Given the description of an element on the screen output the (x, y) to click on. 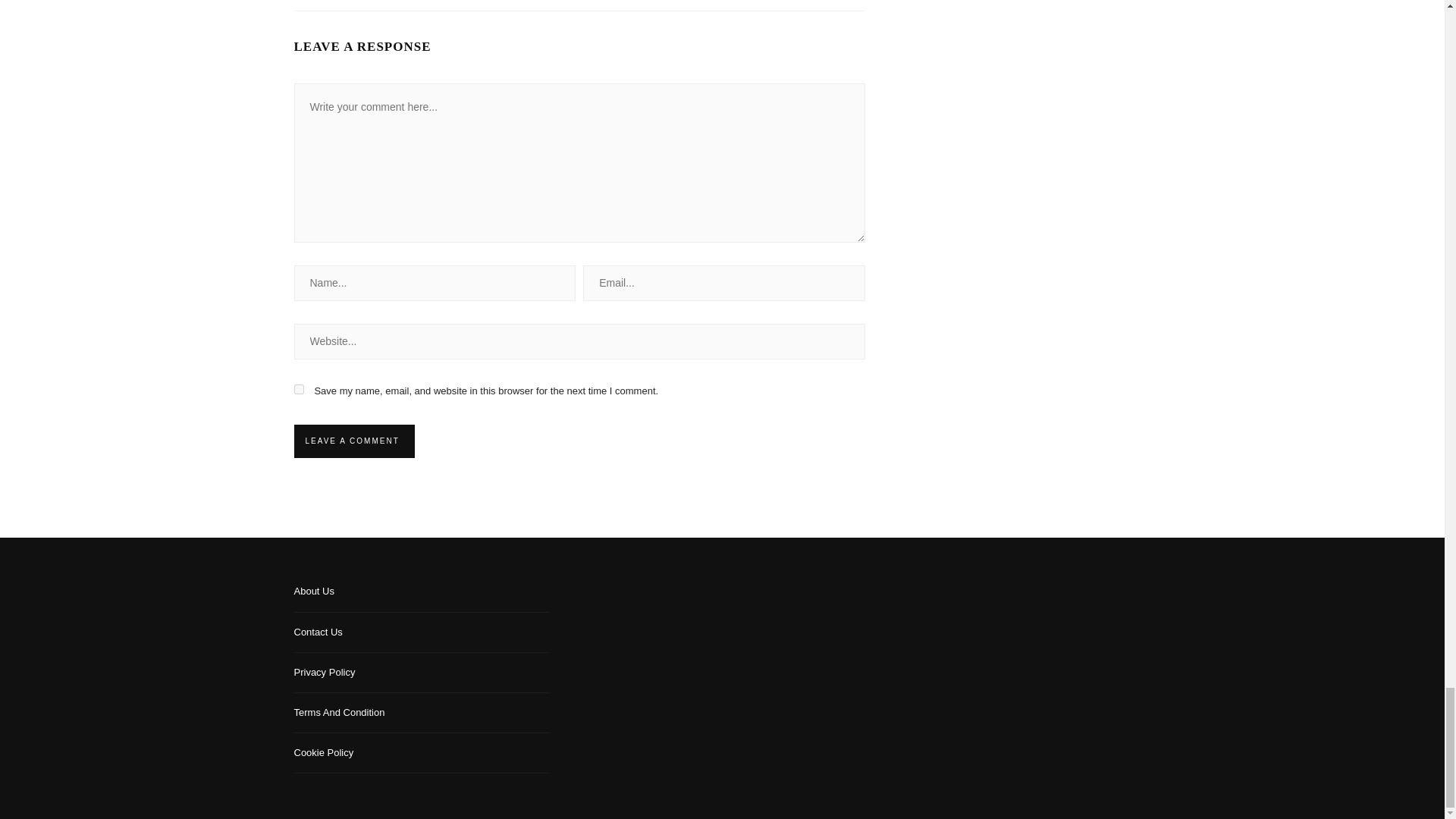
yes (299, 388)
Privacy Policy (422, 678)
Contact Us (422, 638)
Leave a comment (351, 441)
Leave a comment (351, 441)
About Us (422, 597)
